Given the description of an element on the screen output the (x, y) to click on. 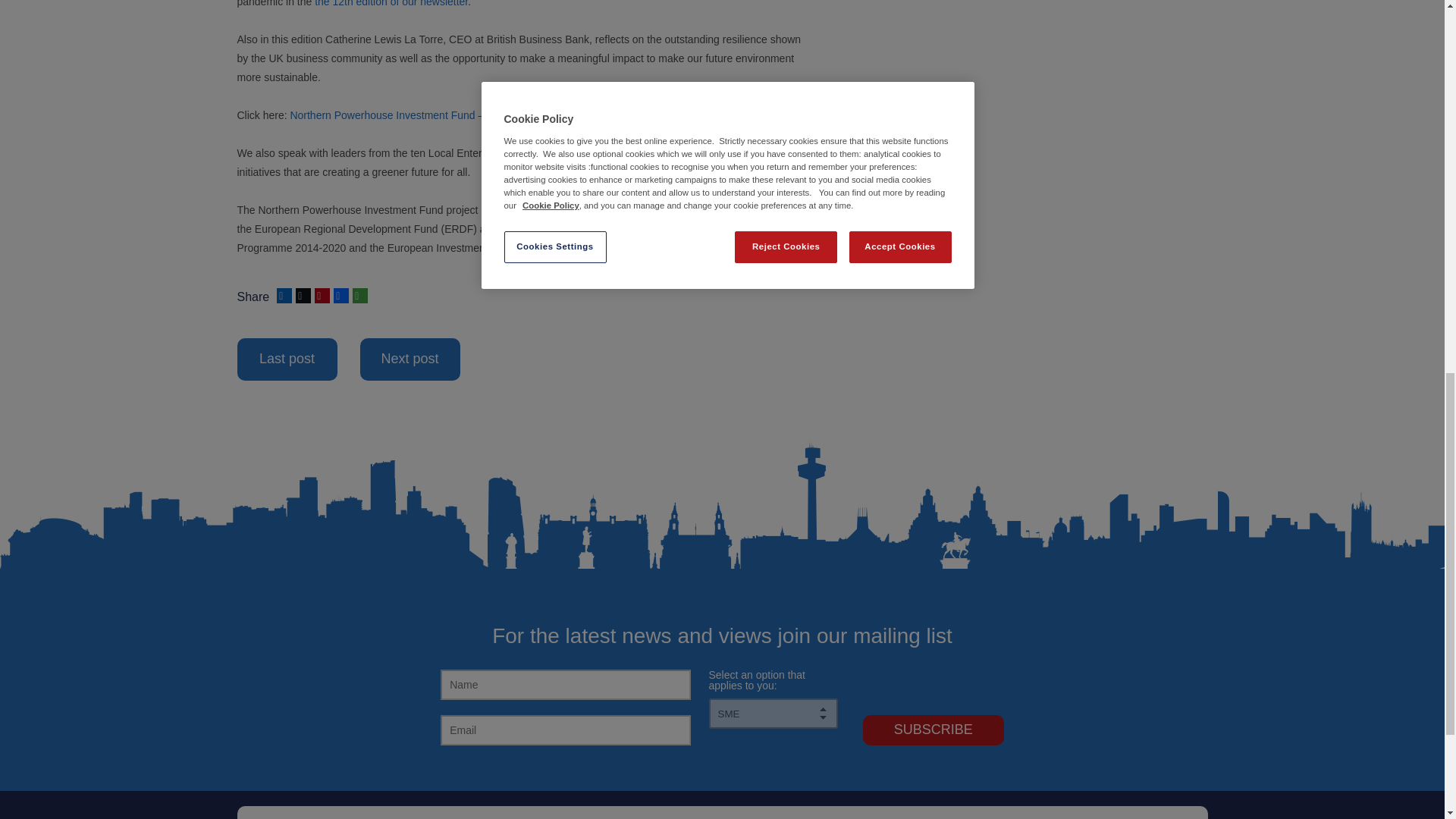
Subscribe (933, 729)
Pinterest (320, 295)
Facebook (339, 295)
More Options (358, 295)
LinkedIn (282, 295)
